Given the description of an element on the screen output the (x, y) to click on. 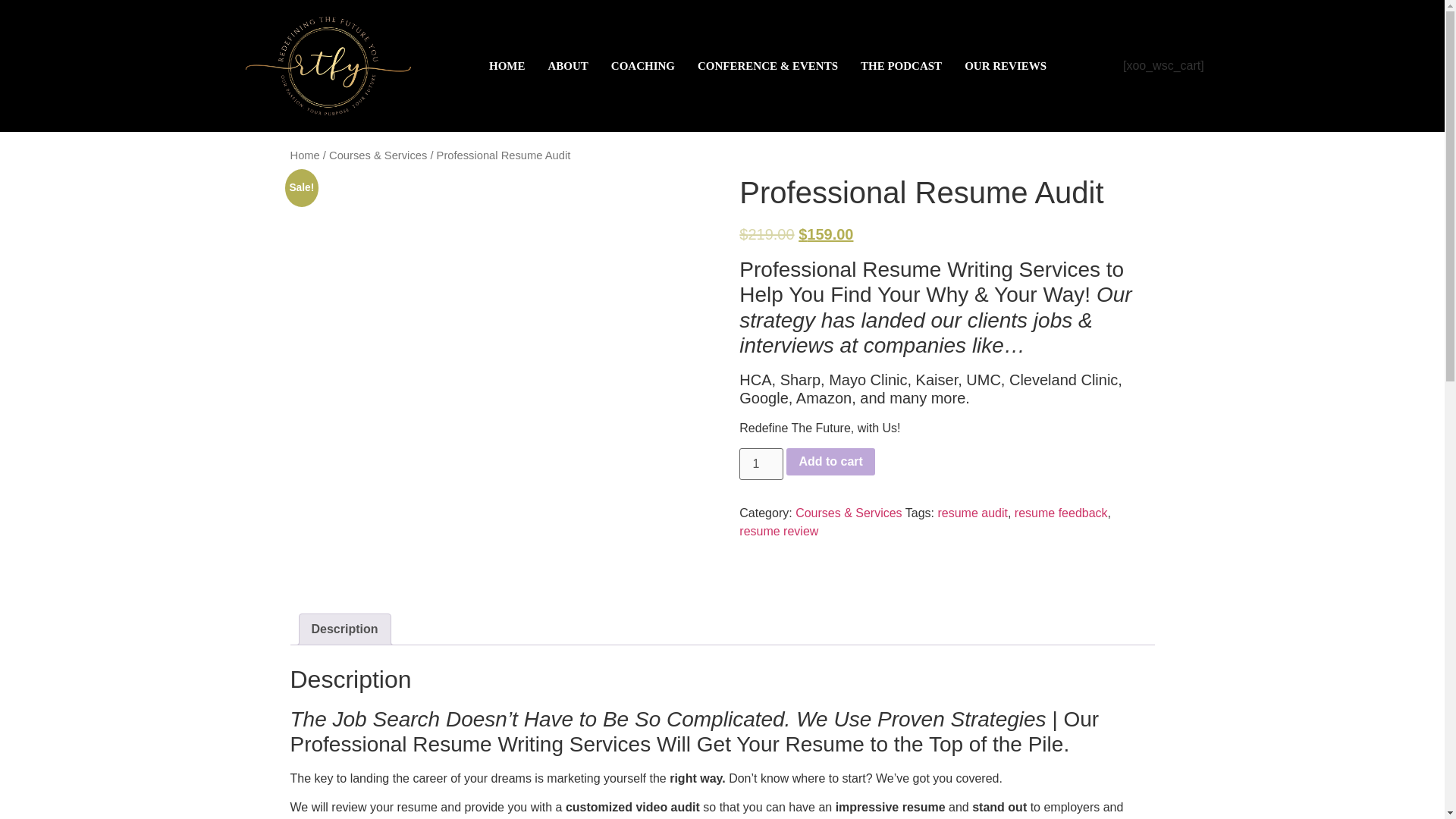
resume audit (972, 512)
ABOUT (566, 65)
HOME (507, 65)
resume feedback (1061, 512)
OUR REVIEWS (1005, 65)
resume review (778, 530)
COACHING (642, 65)
THE PODCAST (900, 65)
Home (303, 154)
1 (761, 463)
Add to cart (830, 461)
Description (344, 629)
